Given the description of an element on the screen output the (x, y) to click on. 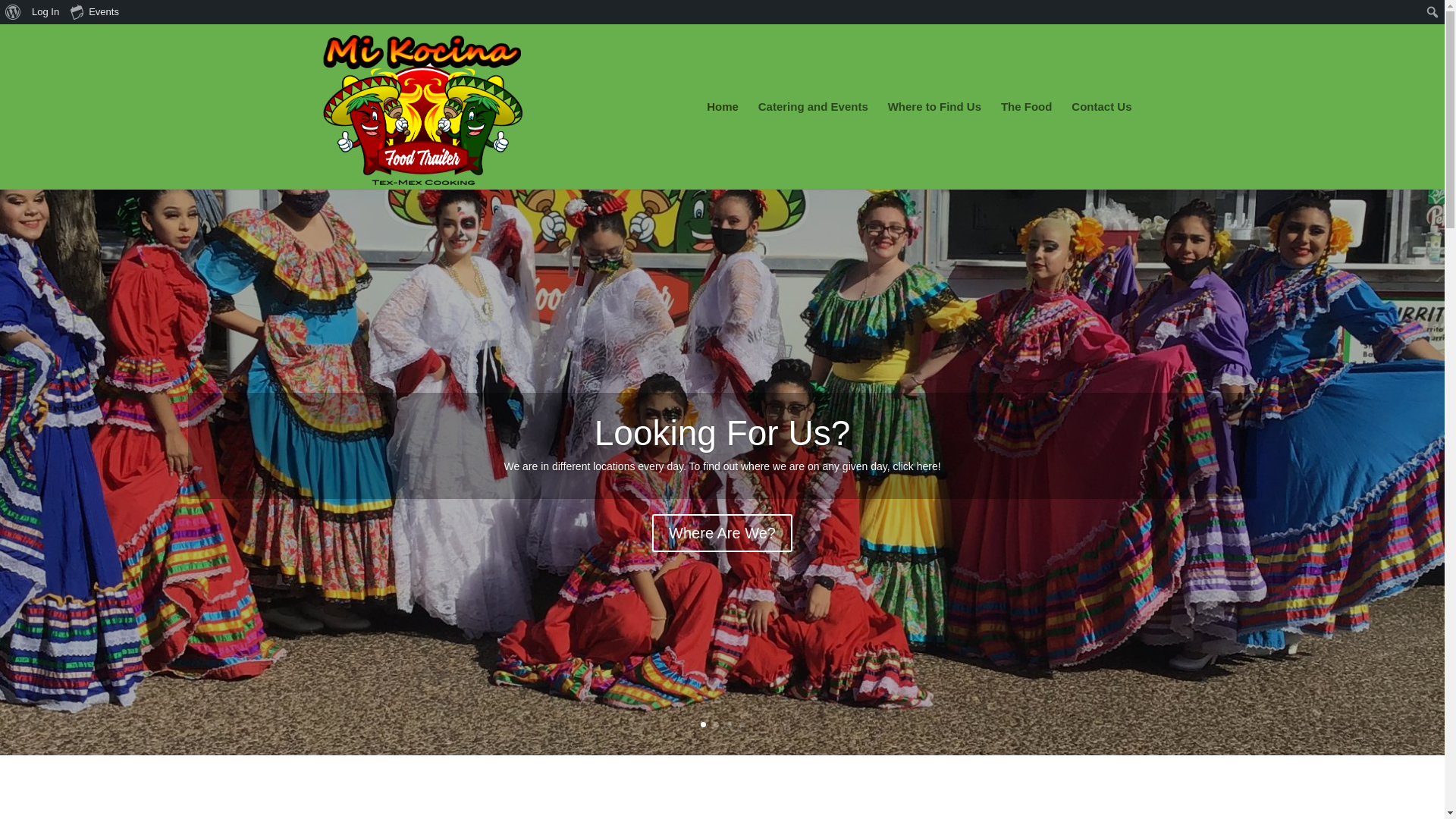
1 (703, 724)
Search (16, 13)
Where to Find Us (934, 145)
3 (729, 724)
Contact Us (1101, 145)
Catering and Events (812, 145)
The Food (1026, 145)
Log In (45, 12)
Events (95, 12)
Home (722, 145)
4 (741, 724)
